Given the description of an element on the screen output the (x, y) to click on. 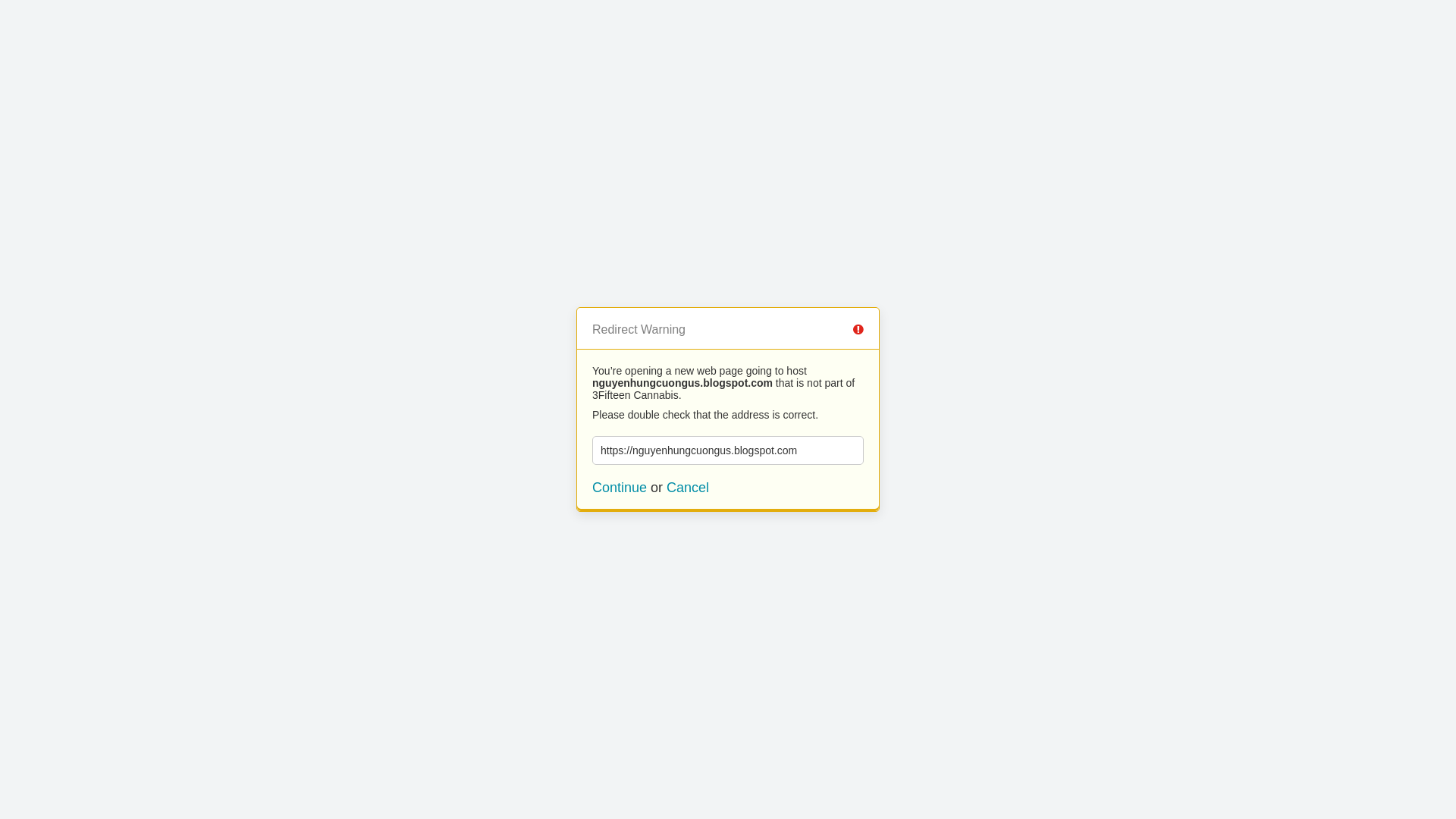
Continue Element type: text (619, 487)
Cancel Element type: text (687, 487)
